Given the description of an element on the screen output the (x, y) to click on. 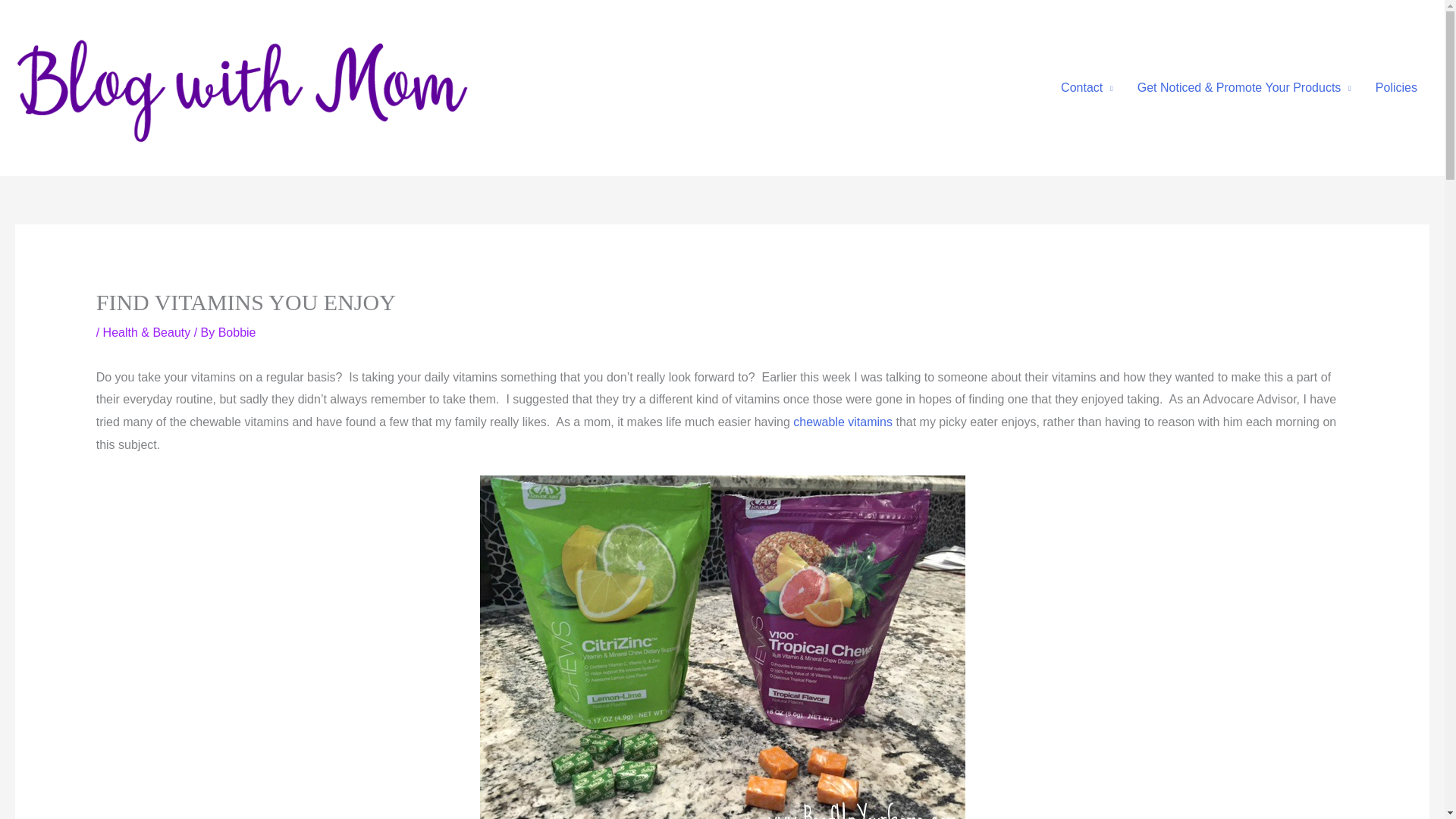
Policies (1395, 87)
Bobbie (237, 332)
Contact (1086, 87)
View all posts by Bobbie (237, 332)
chewable vitamins (842, 421)
